Given the description of an element on the screen output the (x, y) to click on. 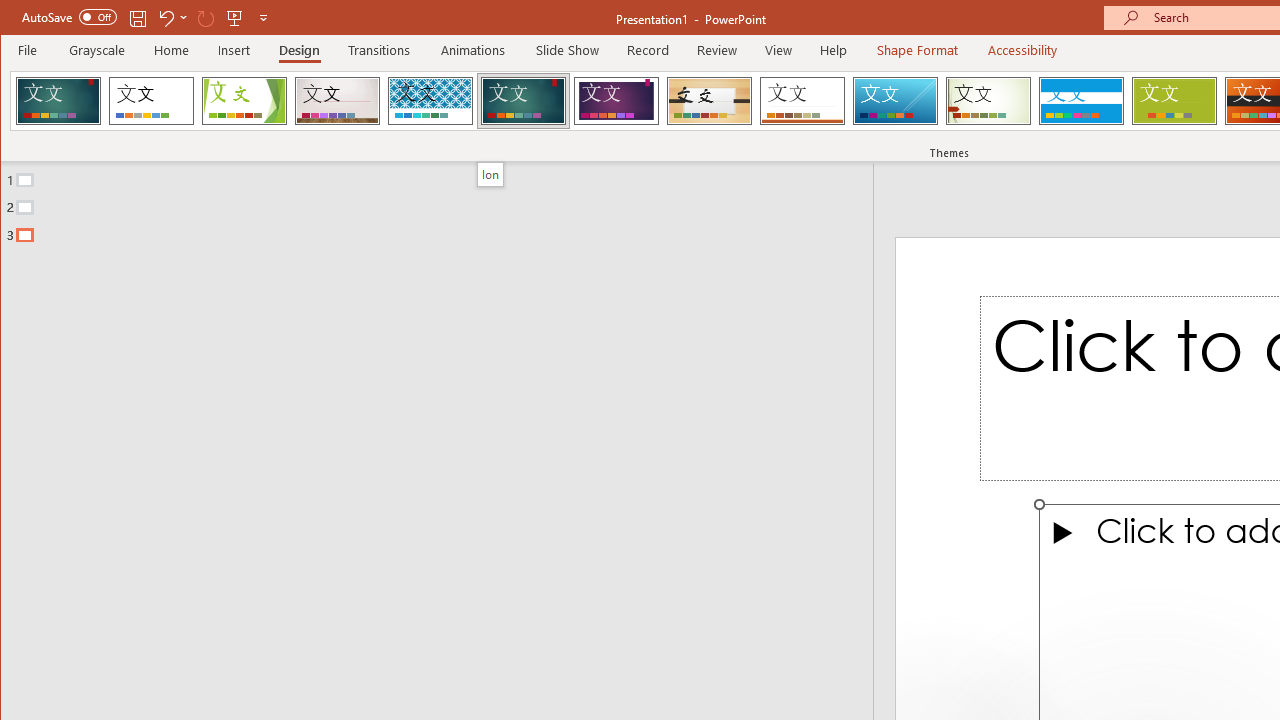
Banded (1081, 100)
Organic (709, 100)
Dividend (57, 100)
Wisp (988, 100)
